Given the description of an element on the screen output the (x, y) to click on. 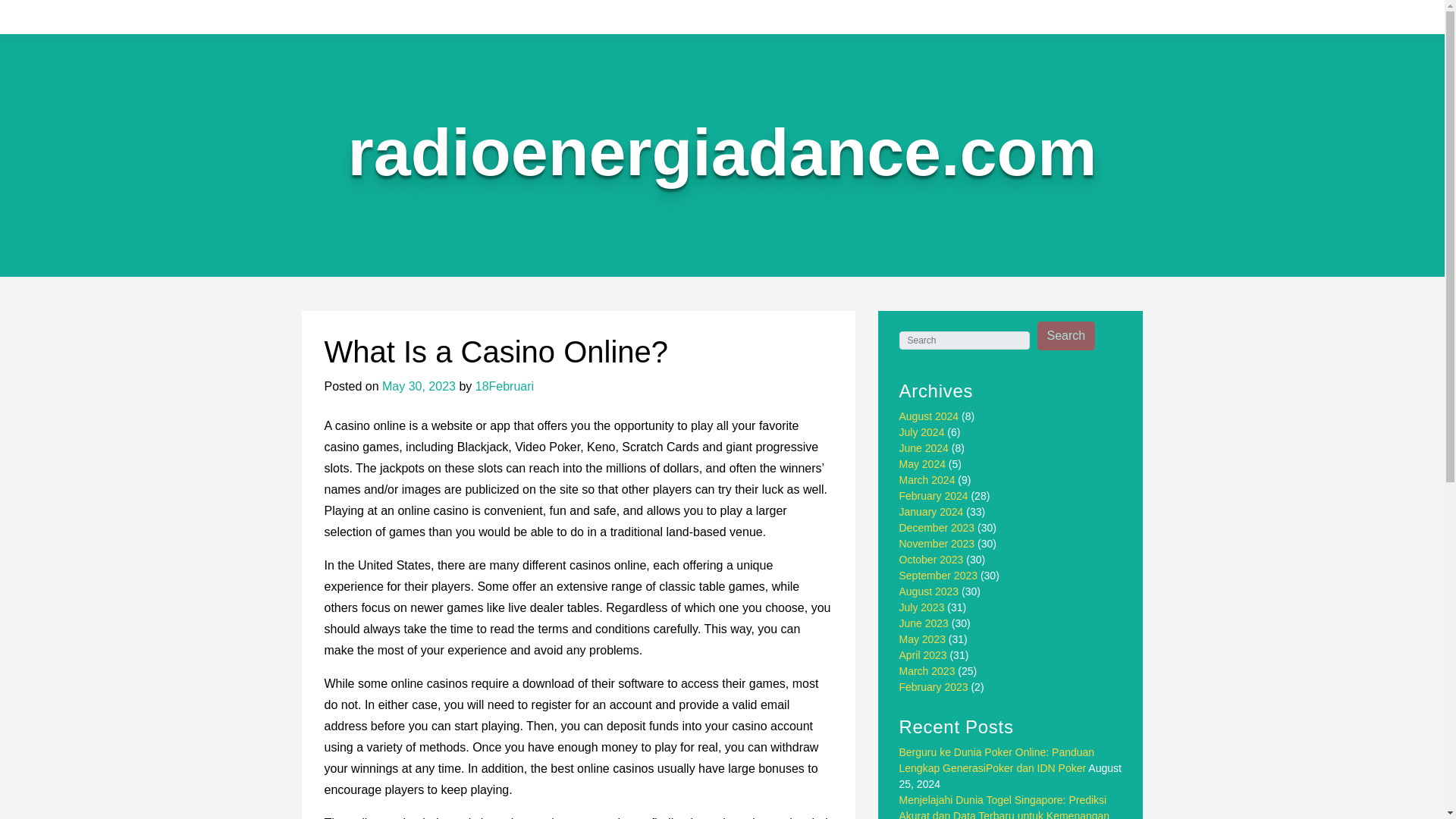
August 2023 (929, 591)
December 2023 (937, 527)
May 30, 2023 (418, 386)
June 2024 (924, 448)
March 2023 (927, 671)
April 2023 (923, 654)
February 2023 (933, 686)
October 2023 (931, 559)
July 2023 (921, 607)
September 2023 (938, 575)
